Given the description of an element on the screen output the (x, y) to click on. 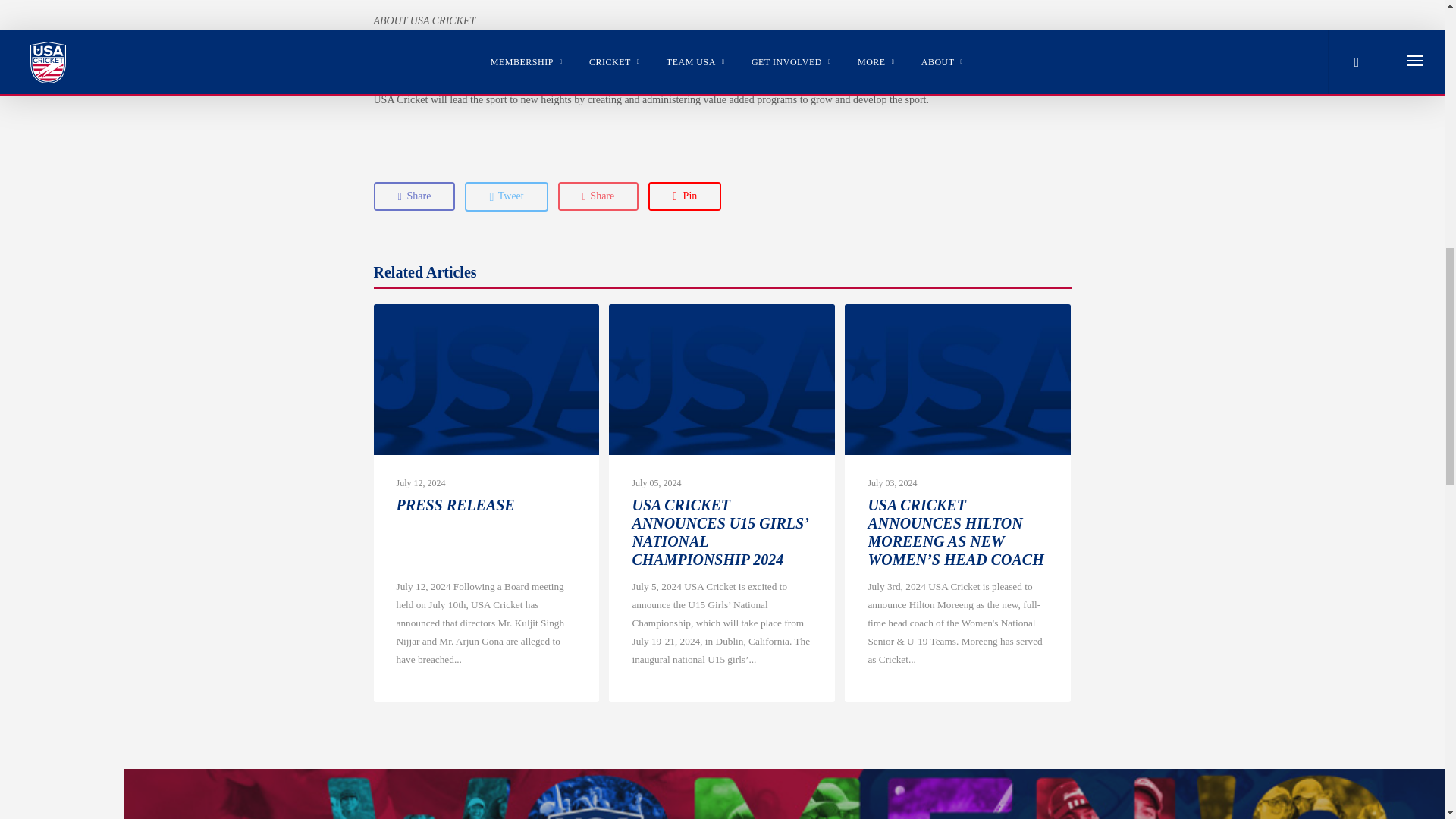
Pin this (683, 195)
Share this (598, 195)
Tweet this (505, 196)
Share this (413, 195)
